Given the description of an element on the screen output the (x, y) to click on. 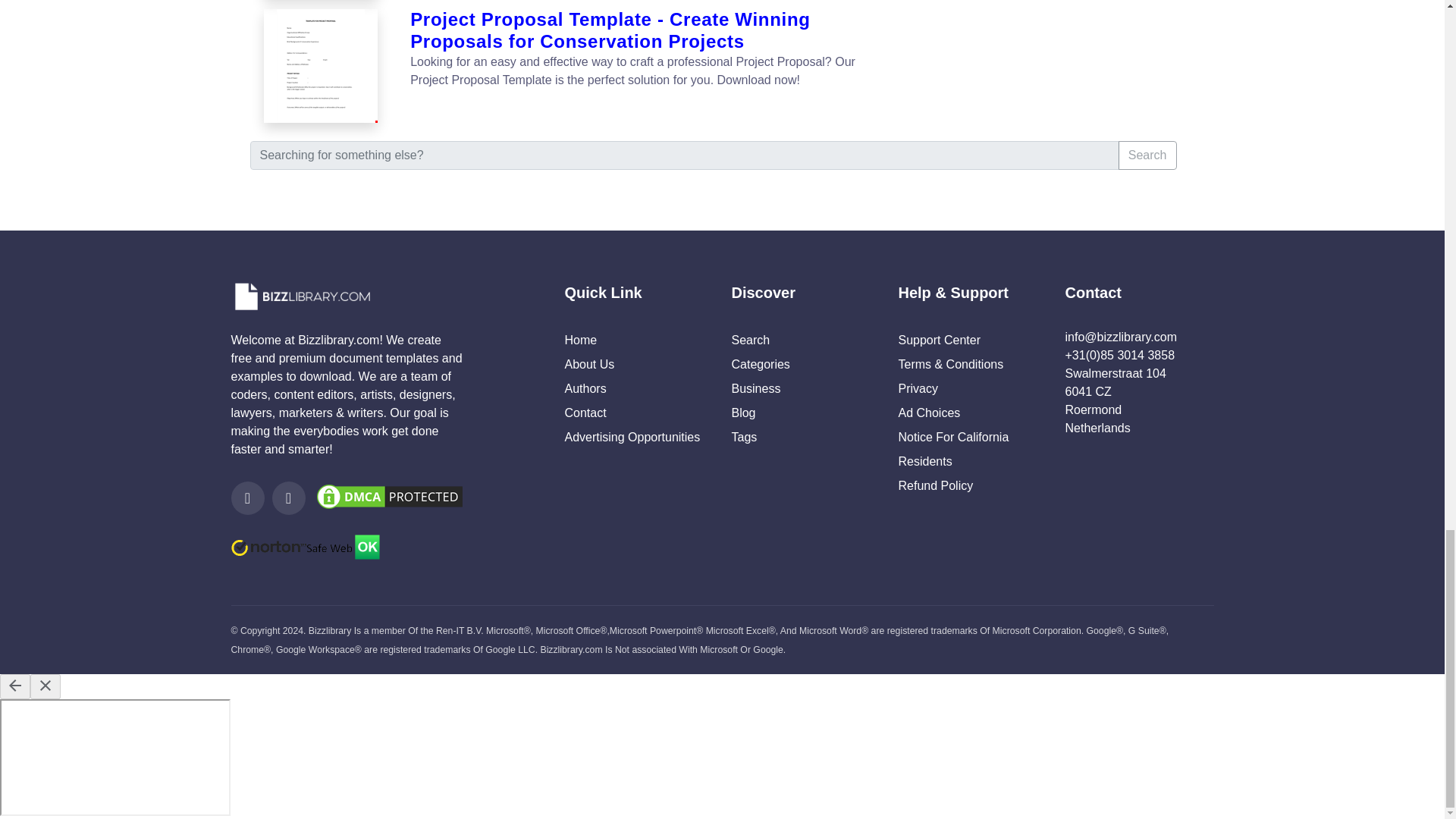
Home (580, 339)
Search (1147, 154)
